Given the description of an element on the screen output the (x, y) to click on. 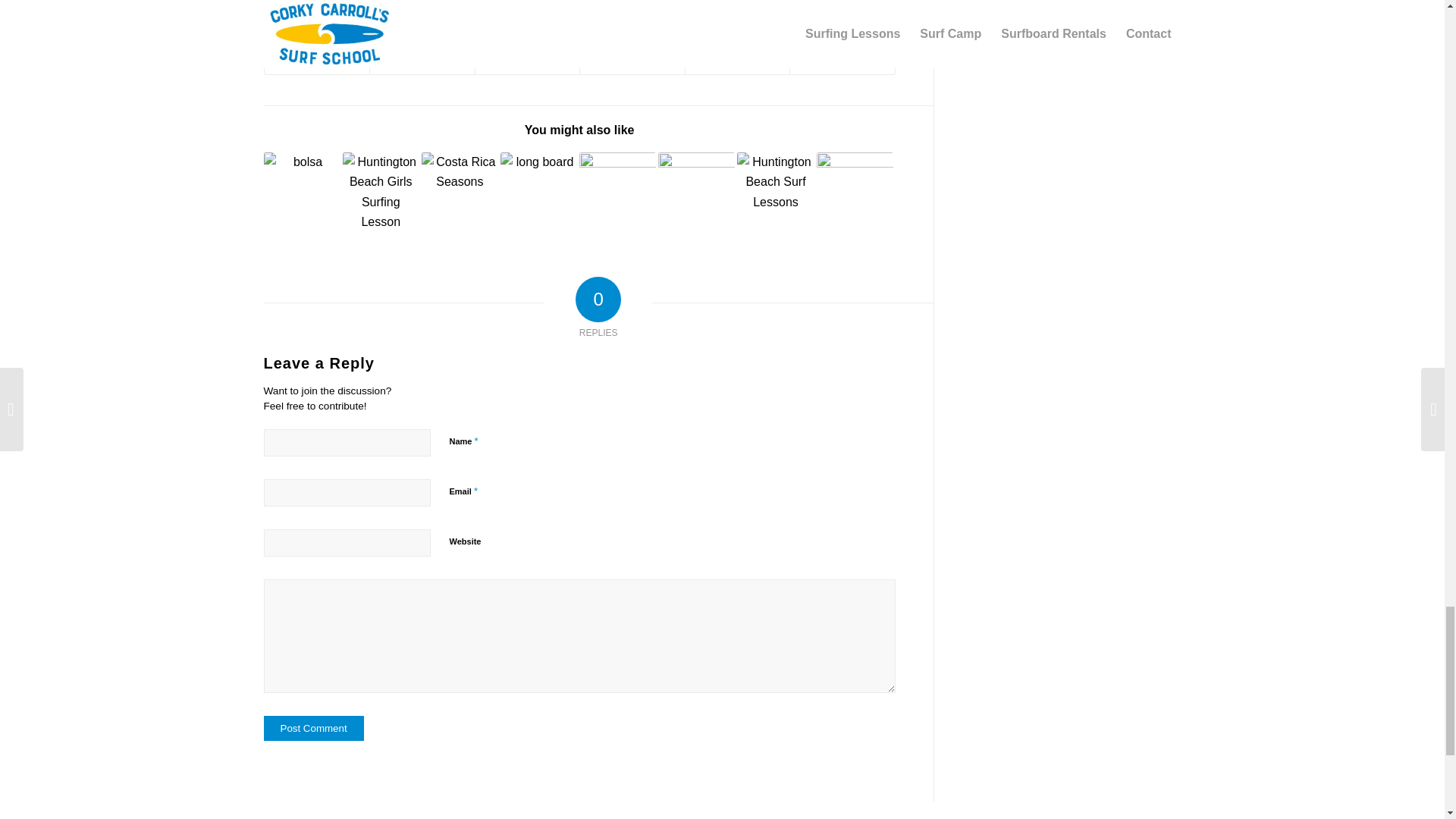
Post Comment (313, 728)
Back to the Beach 2018 (301, 190)
Post Comment (313, 728)
